Given the description of an element on the screen output the (x, y) to click on. 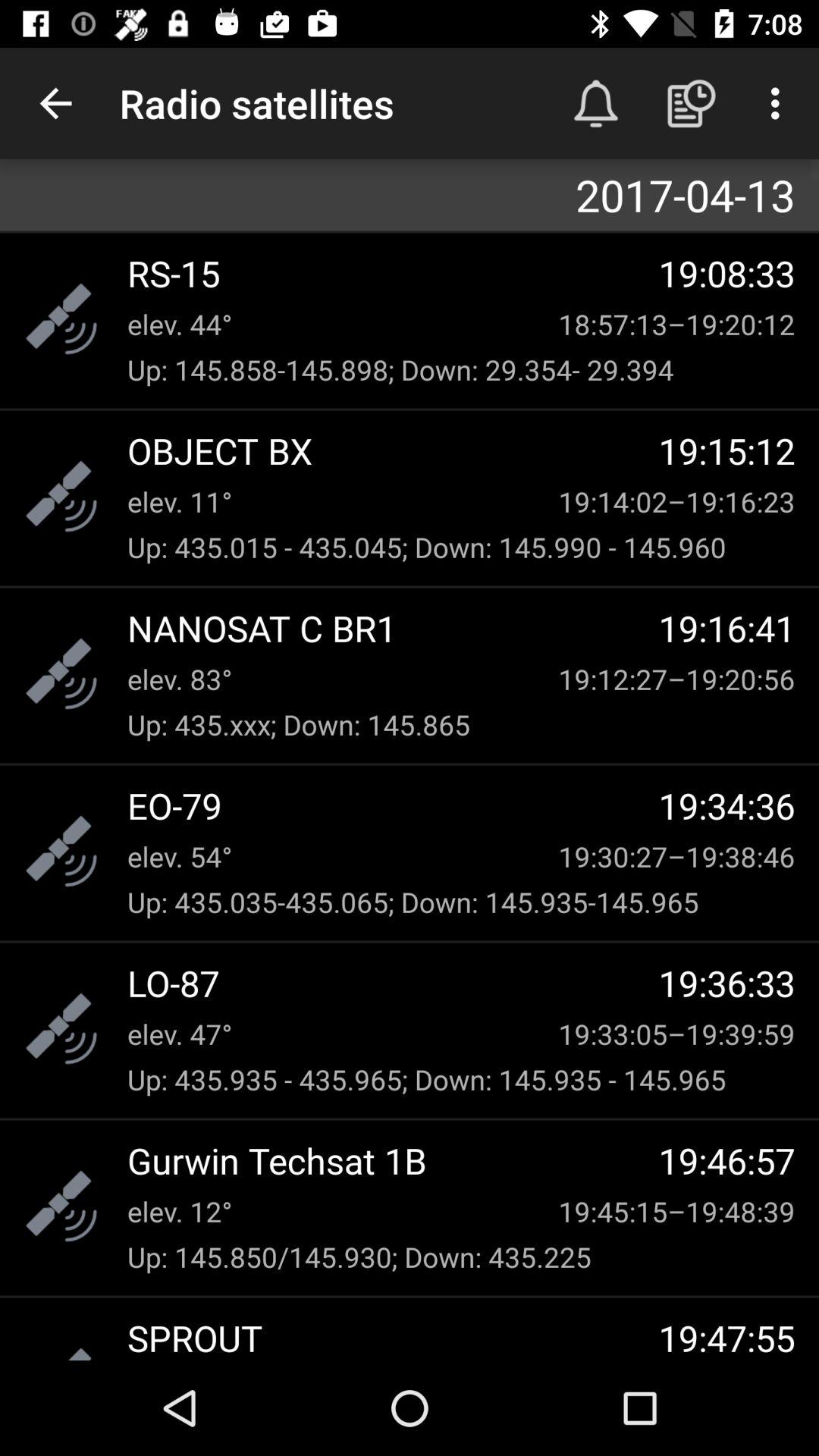
open the icon to the left of the radio satellites (55, 103)
